Given the description of an element on the screen output the (x, y) to click on. 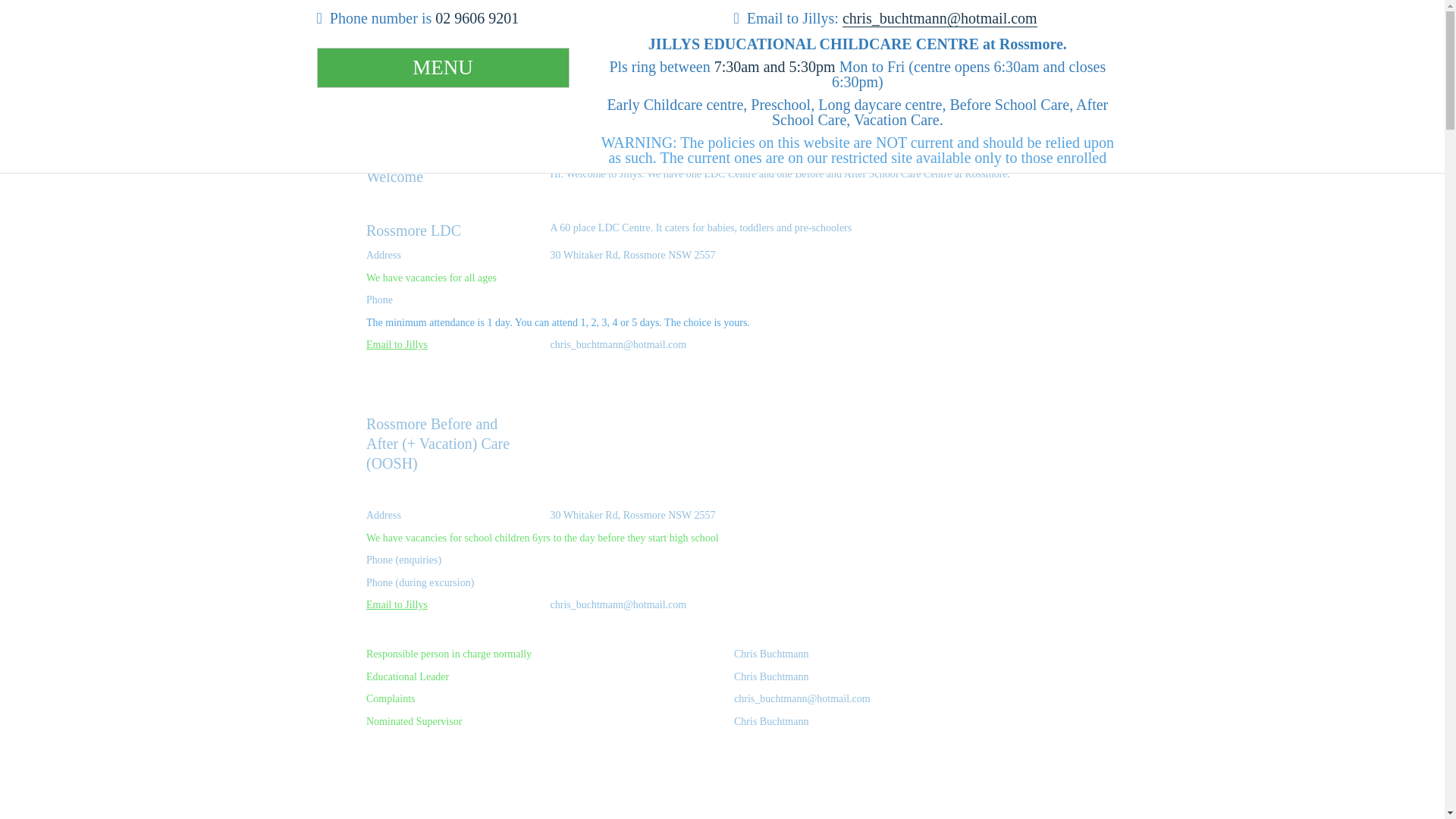
MENU Element type: text (442, 67)
chris_buchtmann@hotmail.com Element type: text (939, 18)
